Given the description of an element on the screen output the (x, y) to click on. 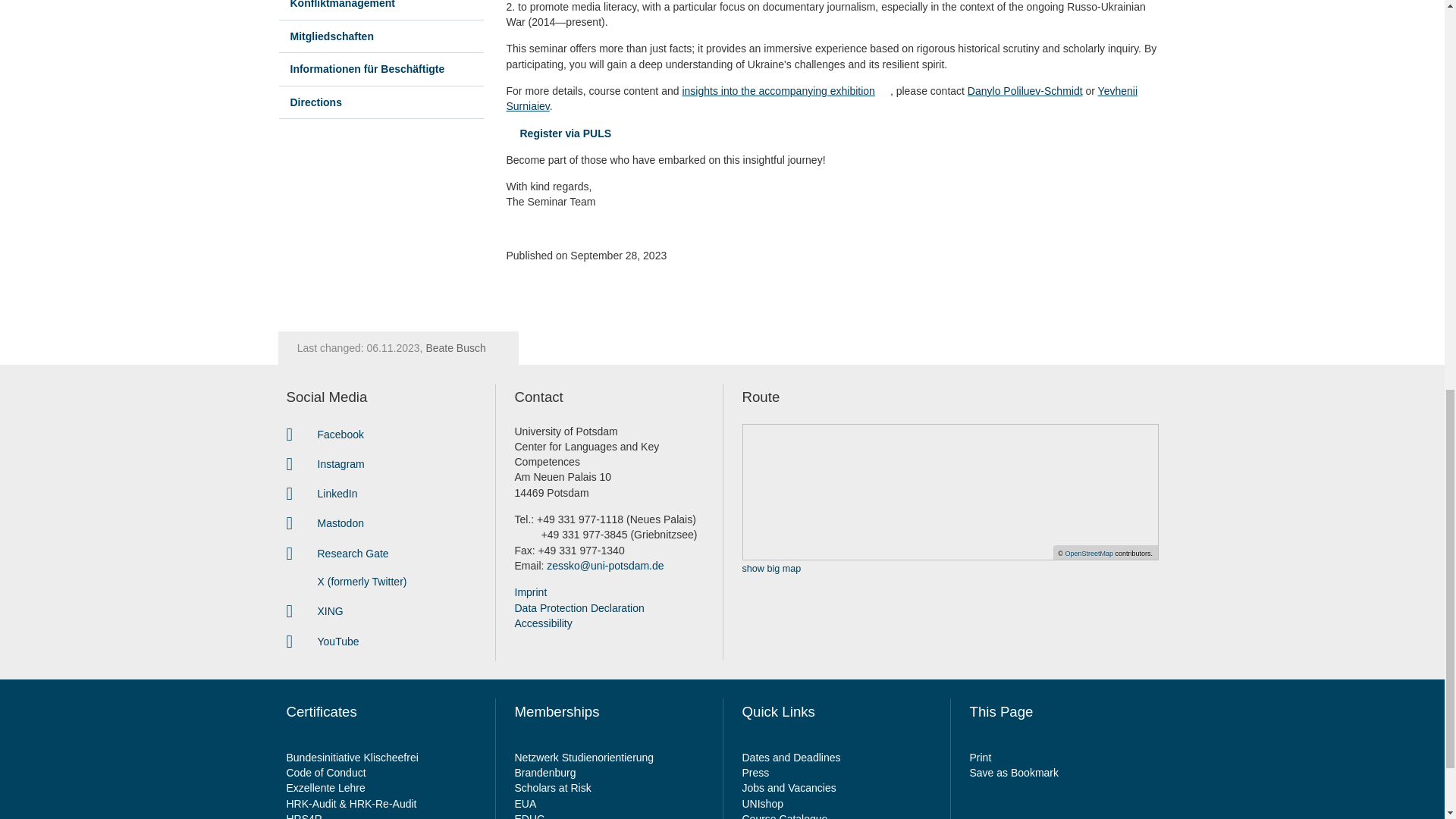
Email to Yevhenii Surniaiev (822, 98)
Register via PULS (558, 133)
Email to Danylo Poliluev-Schmidt (1025, 91)
Link to photo exhibition (785, 91)
